Given the description of an element on the screen output the (x, y) to click on. 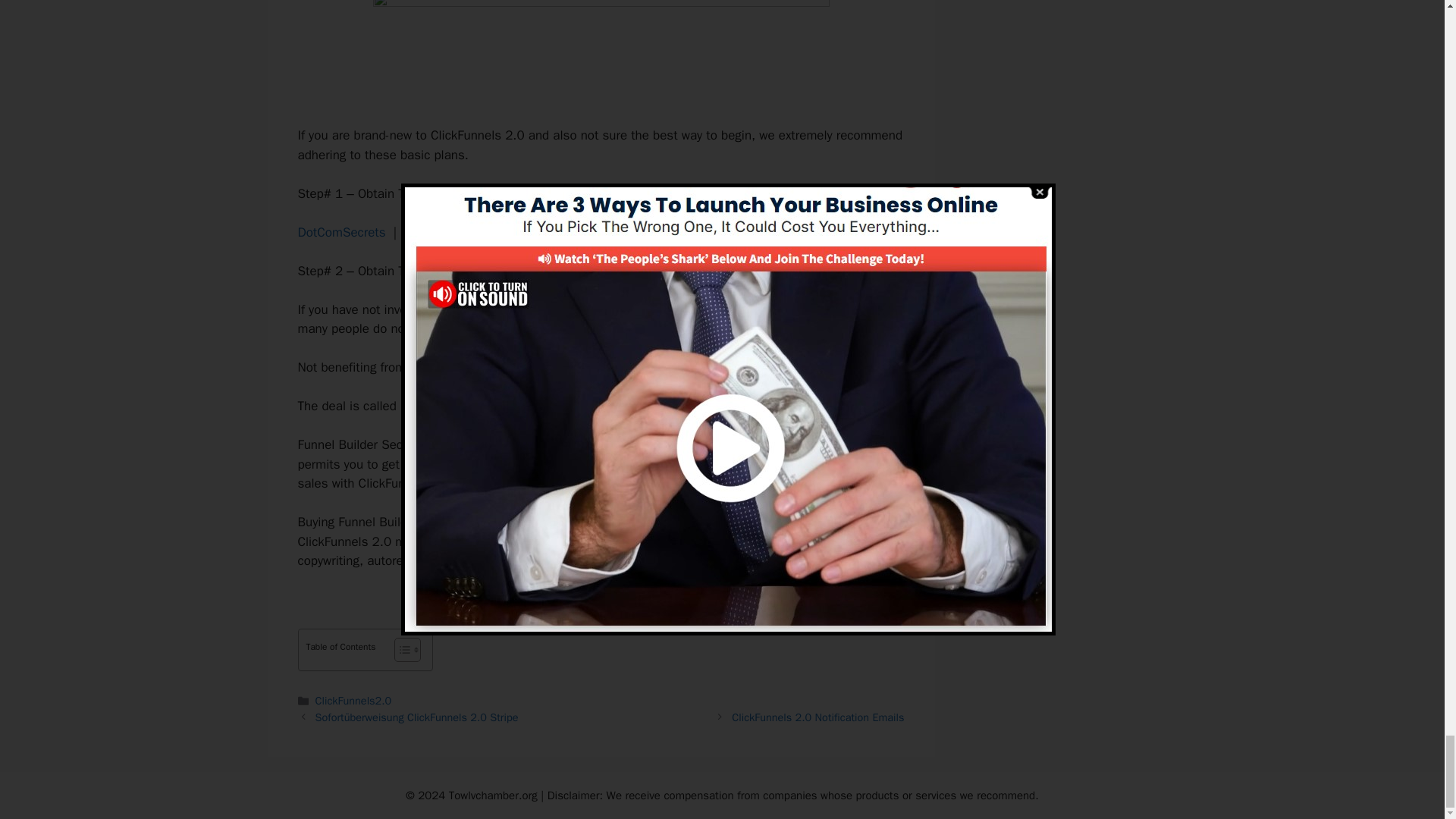
Expert Secrets (445, 232)
Funnel Builder Secrets (463, 406)
Traffic Secrets (545, 232)
DotComSecrets (341, 232)
ClickFunnels 2.0 (495, 309)
